Given the description of an element on the screen output the (x, y) to click on. 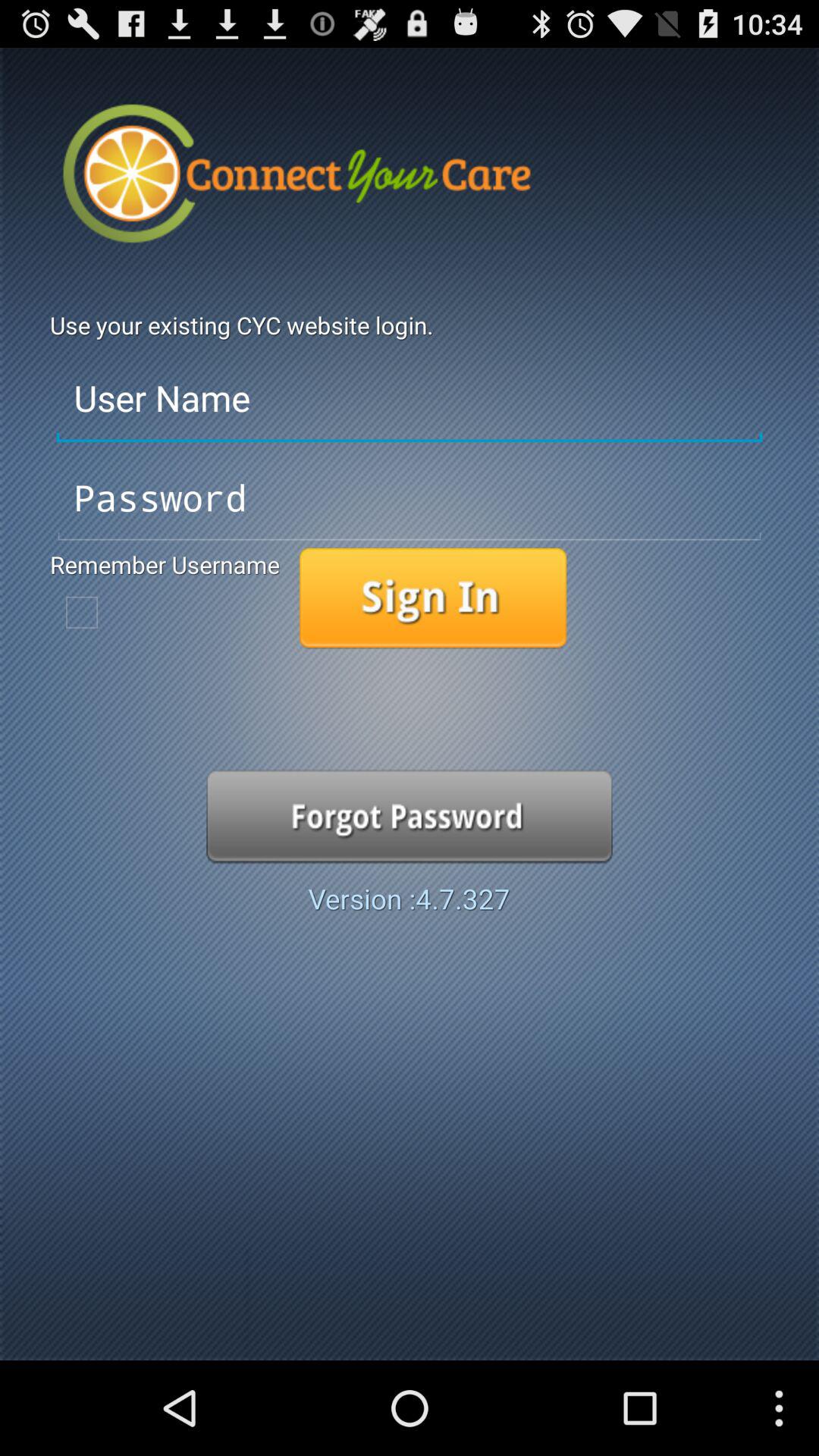
enter password (409, 498)
